Given the description of an element on the screen output the (x, y) to click on. 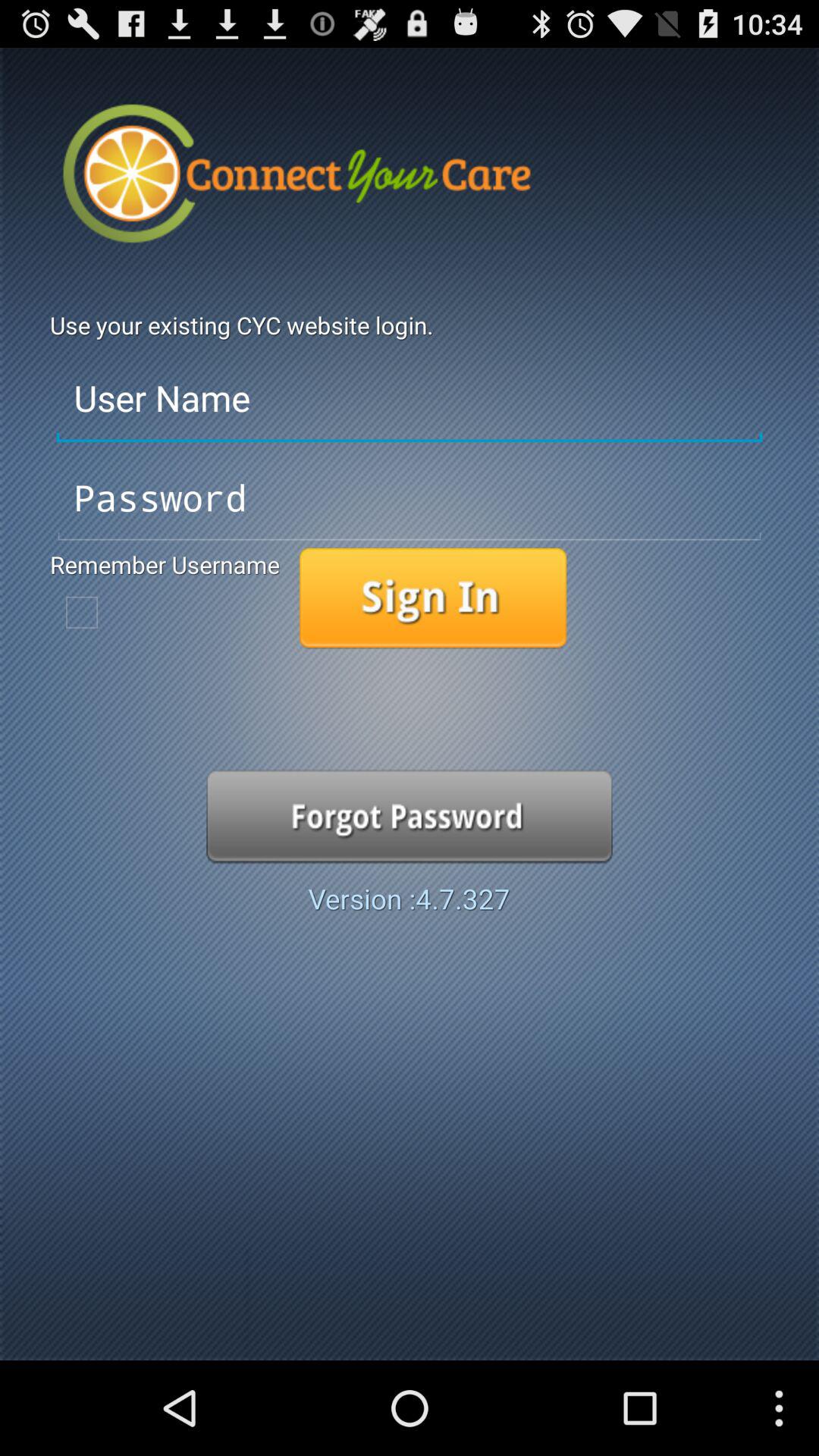
enter password (409, 498)
